Given the description of an element on the screen output the (x, y) to click on. 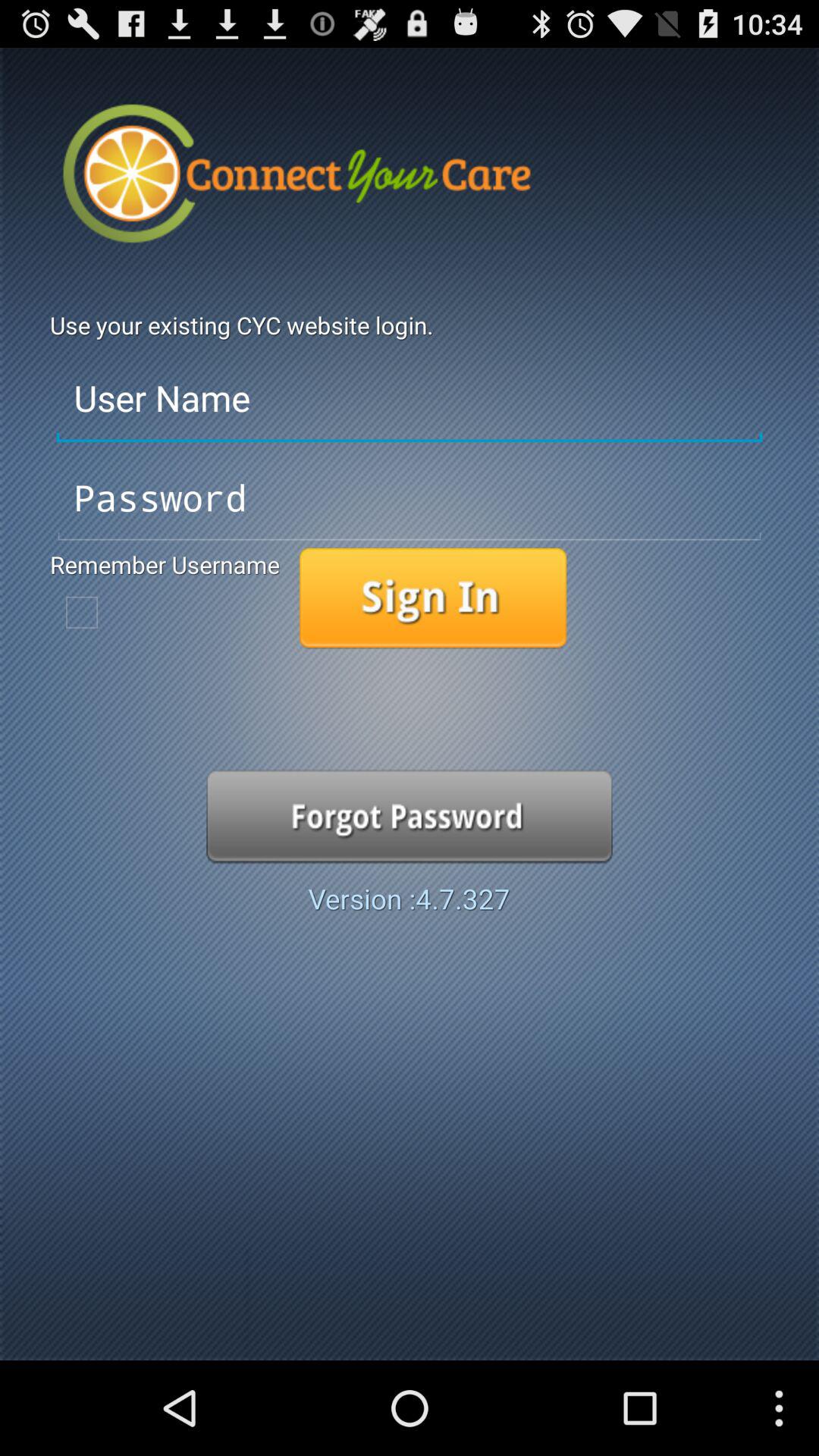
enter password (409, 498)
